Given the description of an element on the screen output the (x, y) to click on. 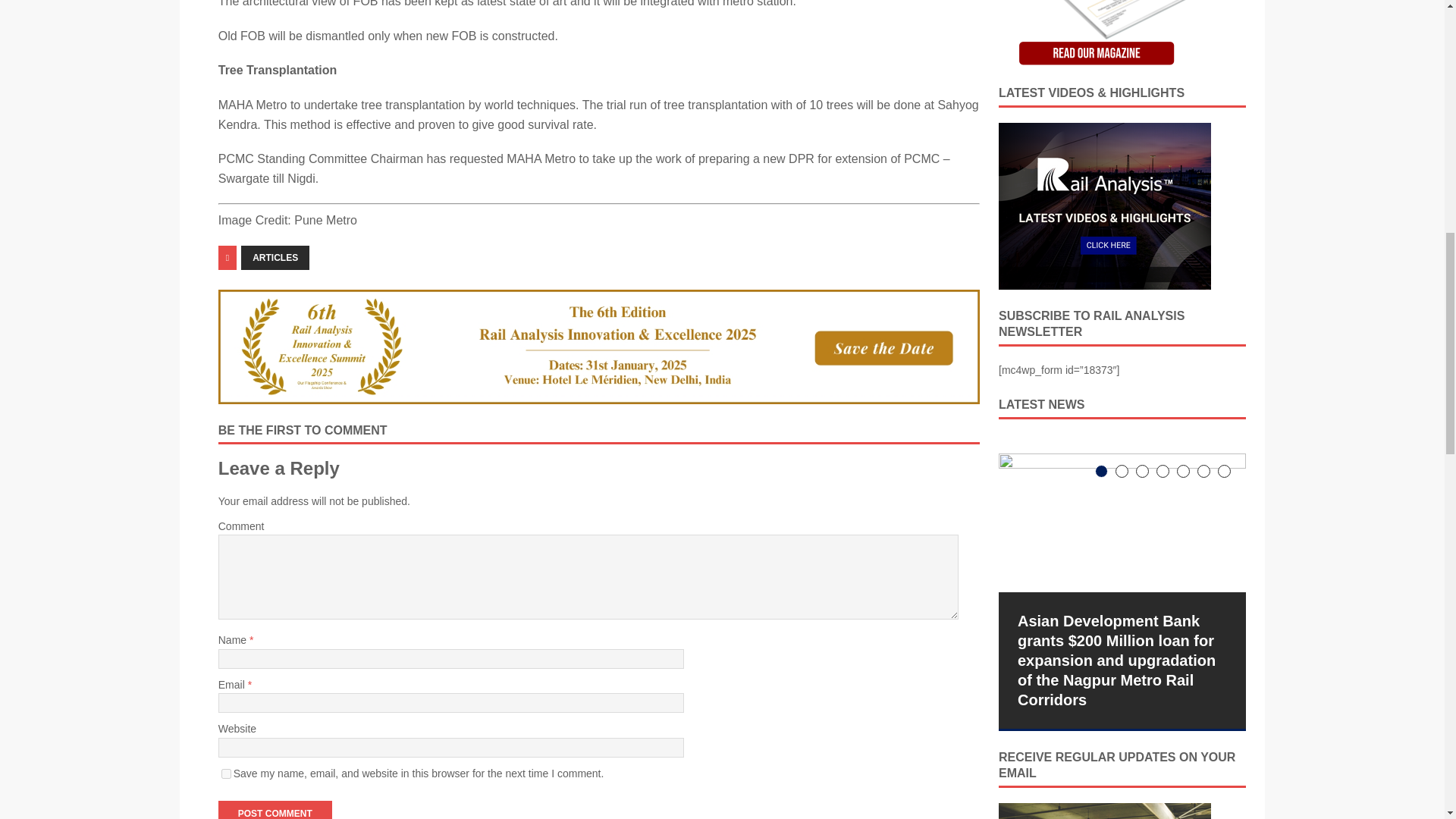
yes (226, 773)
Post Comment (274, 809)
